Given the description of an element on the screen output the (x, y) to click on. 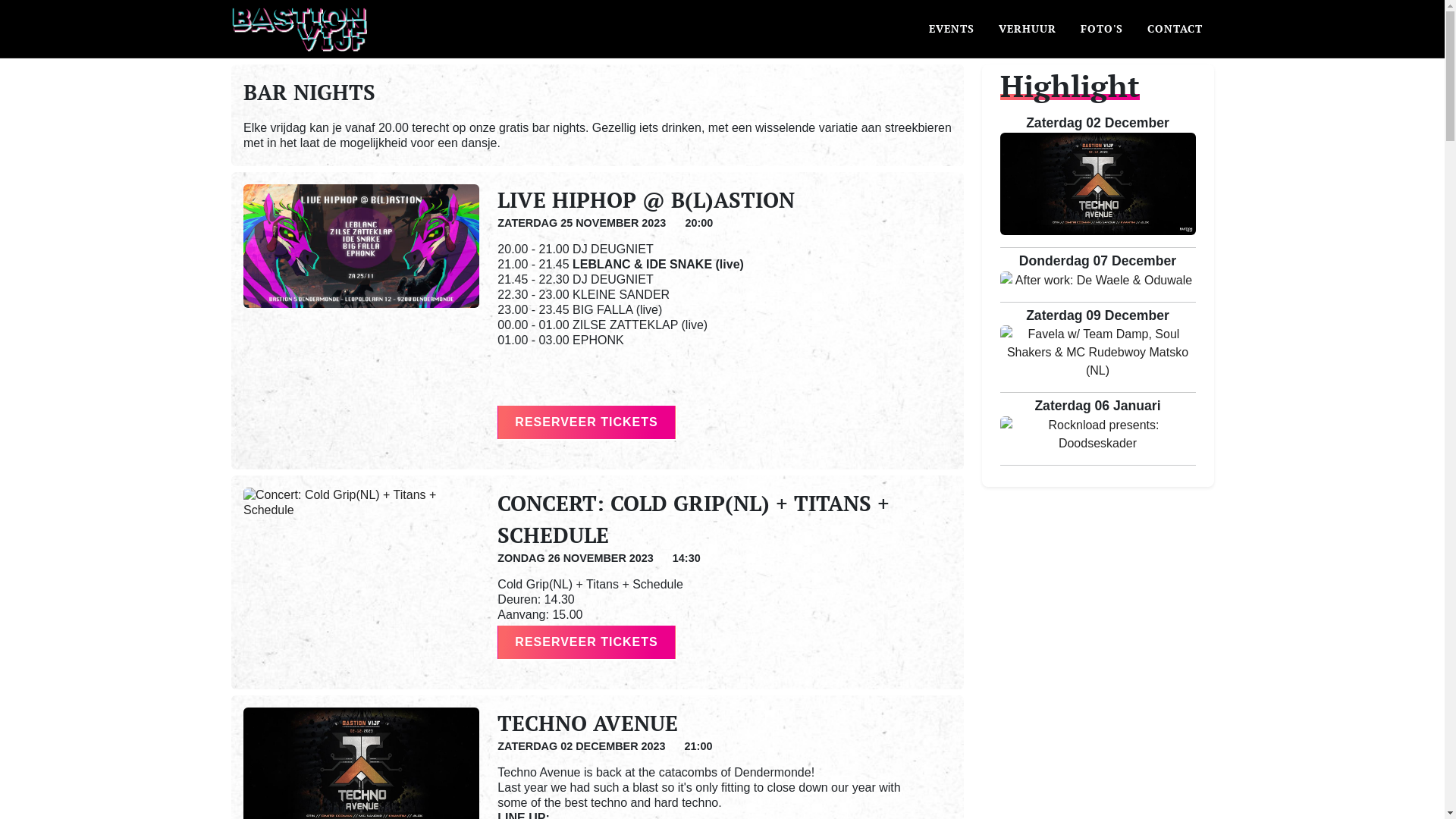
VERHUUR Element type: text (1027, 28)
RESERVEER TICKETS Element type: text (585, 641)
EVENTS Element type: text (951, 28)
TECHNO AVENUE Element type: text (587, 723)
RESERVEER TICKETS Element type: text (585, 422)
LIVE HIPHOP @ B(L)ASTION Element type: text (645, 199)
FOTO'S Element type: text (1101, 28)
CONCERT: COLD GRIP(NL) + TITANS + SCHEDULE Element type: text (693, 519)
CONTACT Element type: text (1174, 28)
